Given the description of an element on the screen output the (x, y) to click on. 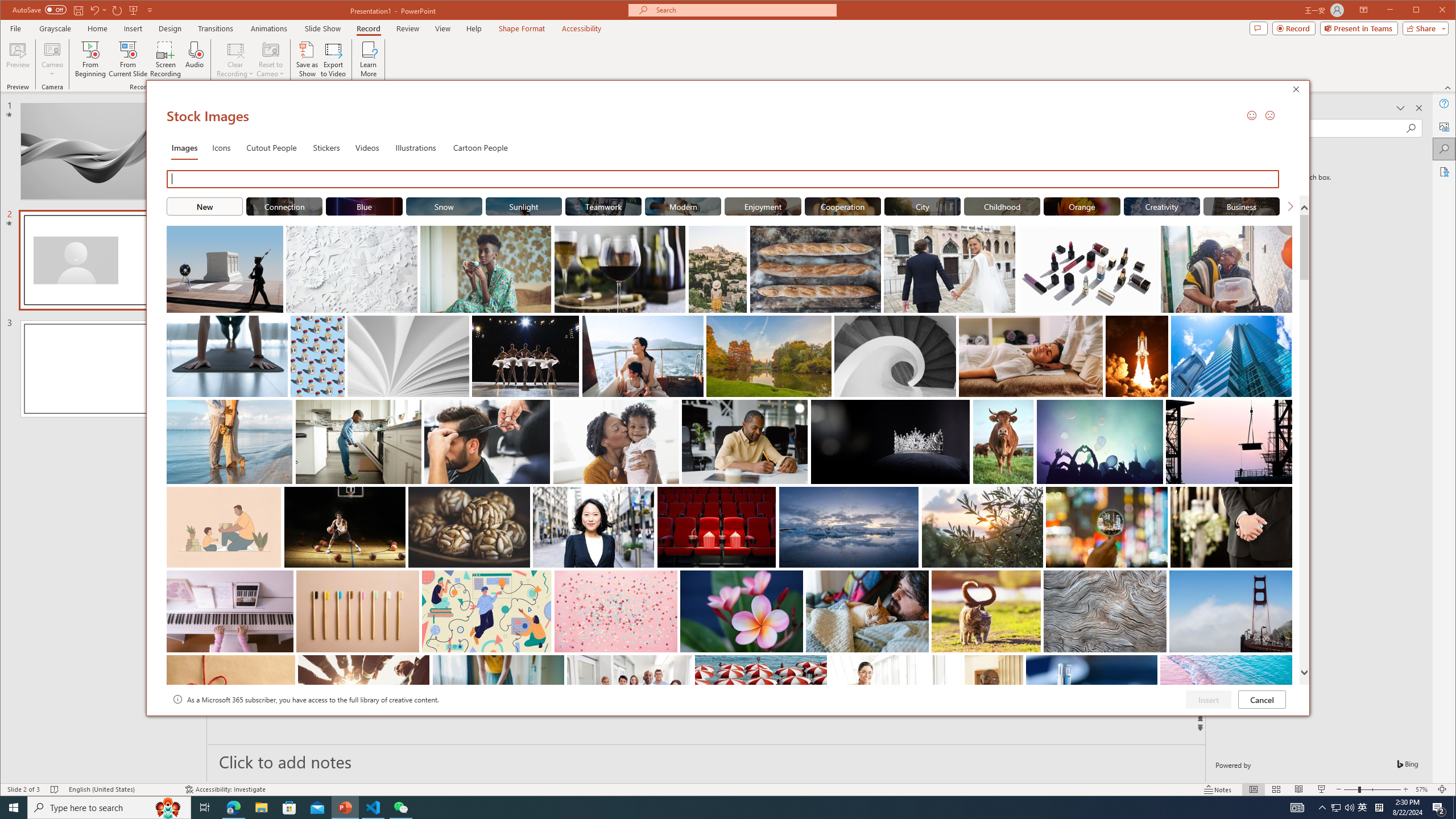
Cartoon People (479, 147)
